Given the description of an element on the screen output the (x, y) to click on. 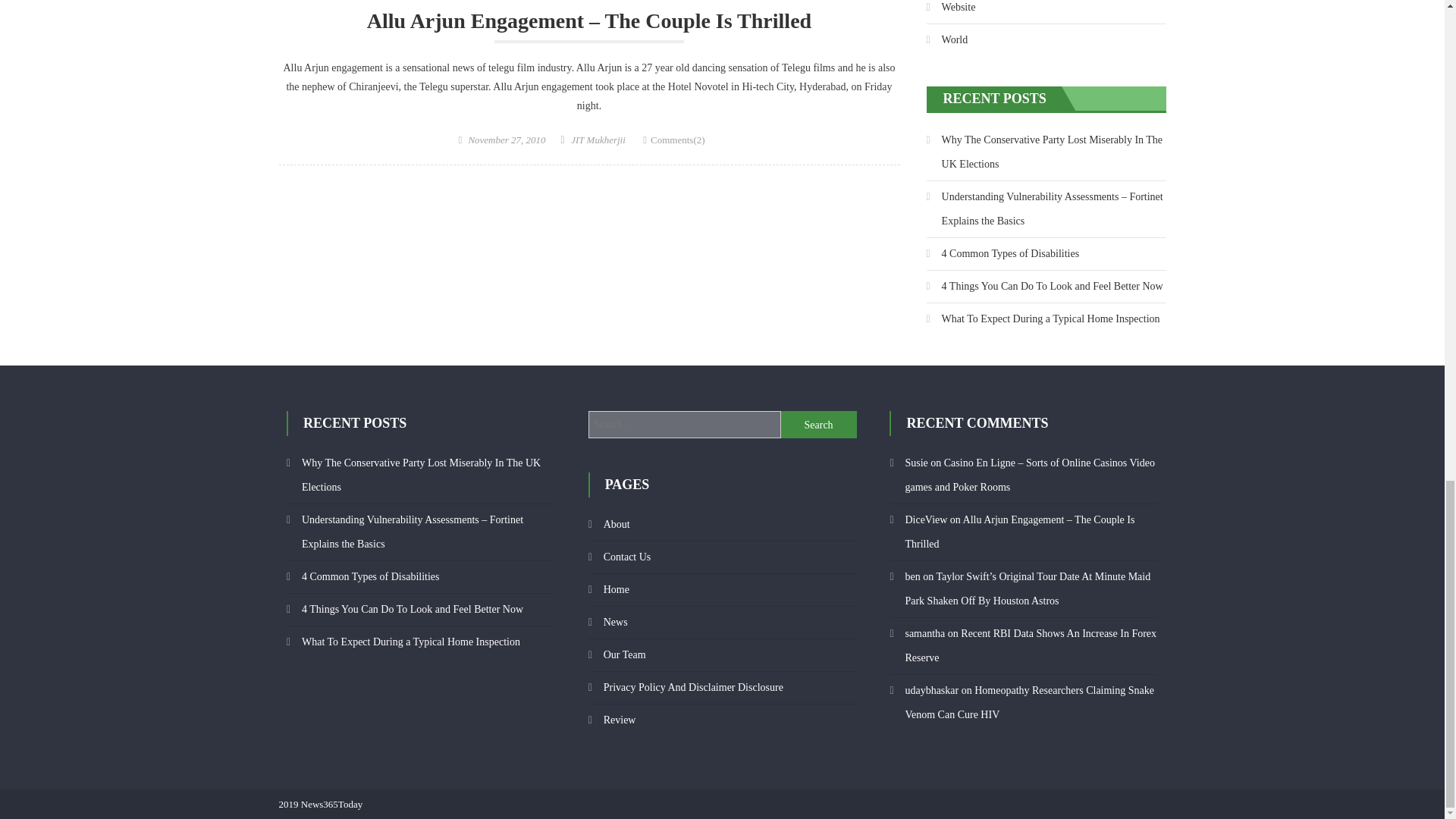
Search (818, 424)
Search (818, 424)
November 27, 2010 (505, 139)
JIT Mukherjii (598, 139)
